Given the description of an element on the screen output the (x, y) to click on. 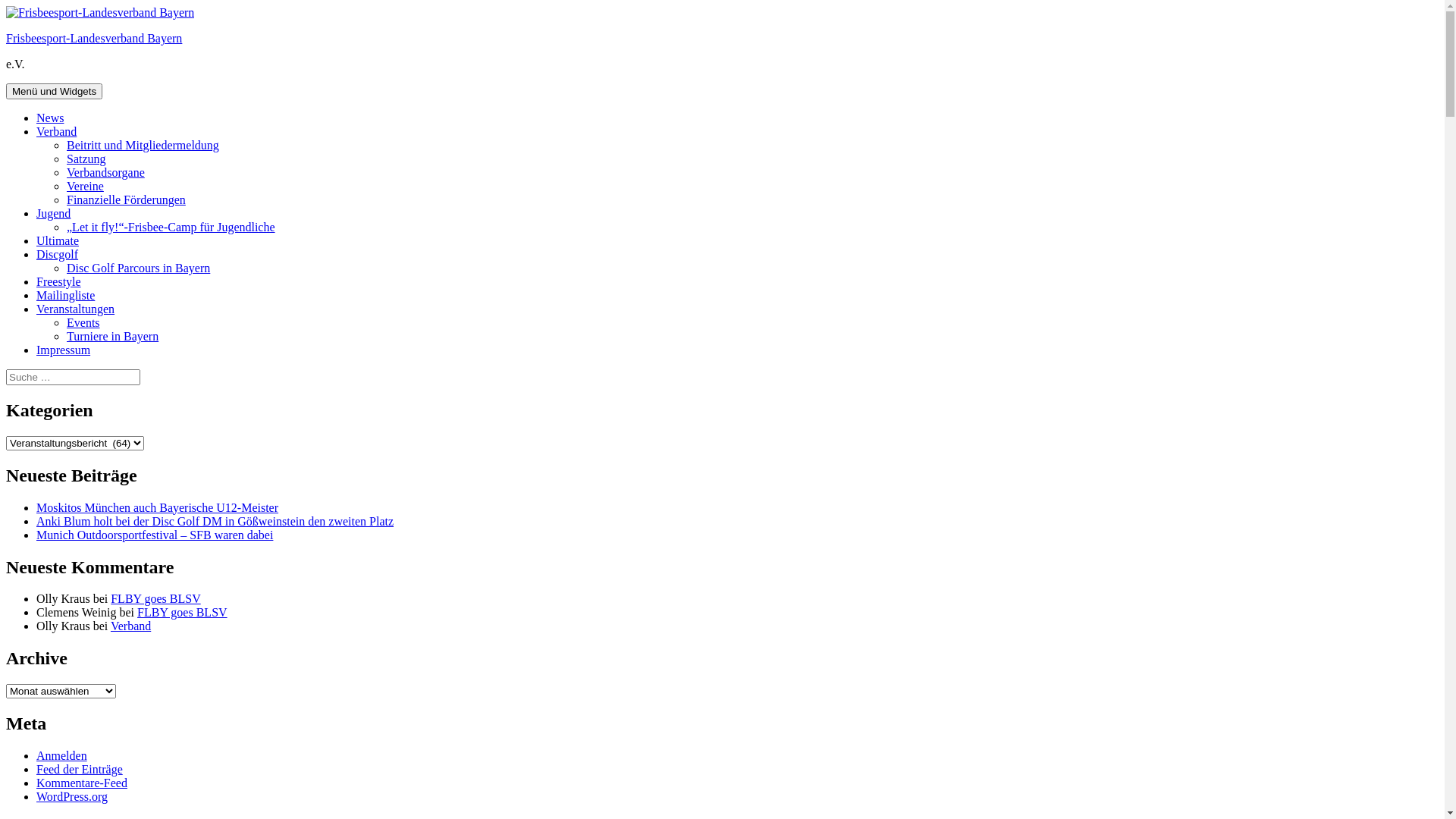
Disc Golf Parcours in Bayern Element type: text (138, 267)
Freestyle Element type: text (58, 281)
Veranstaltungen Element type: text (75, 308)
Ultimate Element type: text (57, 240)
Zum Inhalt springen Element type: text (5, 5)
Anmelden Element type: text (61, 755)
Verband Element type: text (130, 625)
FLBY goes BLSV Element type: text (182, 611)
Verband Element type: text (56, 131)
Turniere in Bayern Element type: text (112, 335)
Impressum Element type: text (63, 349)
Beitritt und Mitgliedermeldung Element type: text (142, 144)
News Element type: text (49, 117)
Frisbeesport-Landesverband Bayern Element type: text (94, 37)
Jugend Element type: text (53, 213)
Discgolf Element type: text (57, 253)
Kommentare-Feed Element type: text (81, 782)
FLBY goes BLSV Element type: text (155, 598)
Satzung Element type: text (86, 158)
Events Element type: text (83, 322)
Vereine Element type: text (84, 185)
Suche Element type: text (139, 368)
Verbandsorgane Element type: text (105, 172)
WordPress.org Element type: text (71, 796)
Mailingliste Element type: text (65, 294)
